Given the description of an element on the screen output the (x, y) to click on. 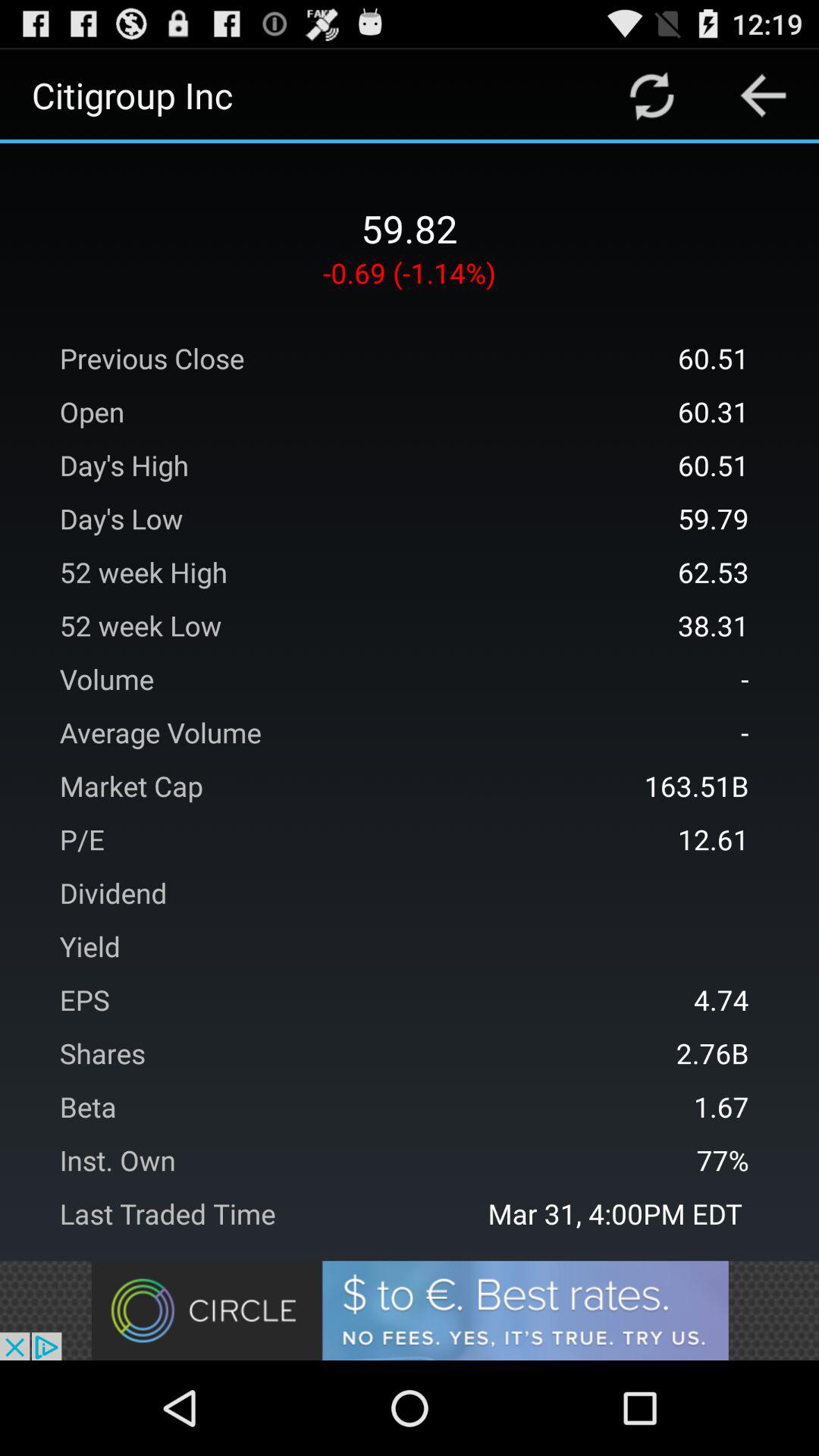
refresh page (651, 95)
